Given the description of an element on the screen output the (x, y) to click on. 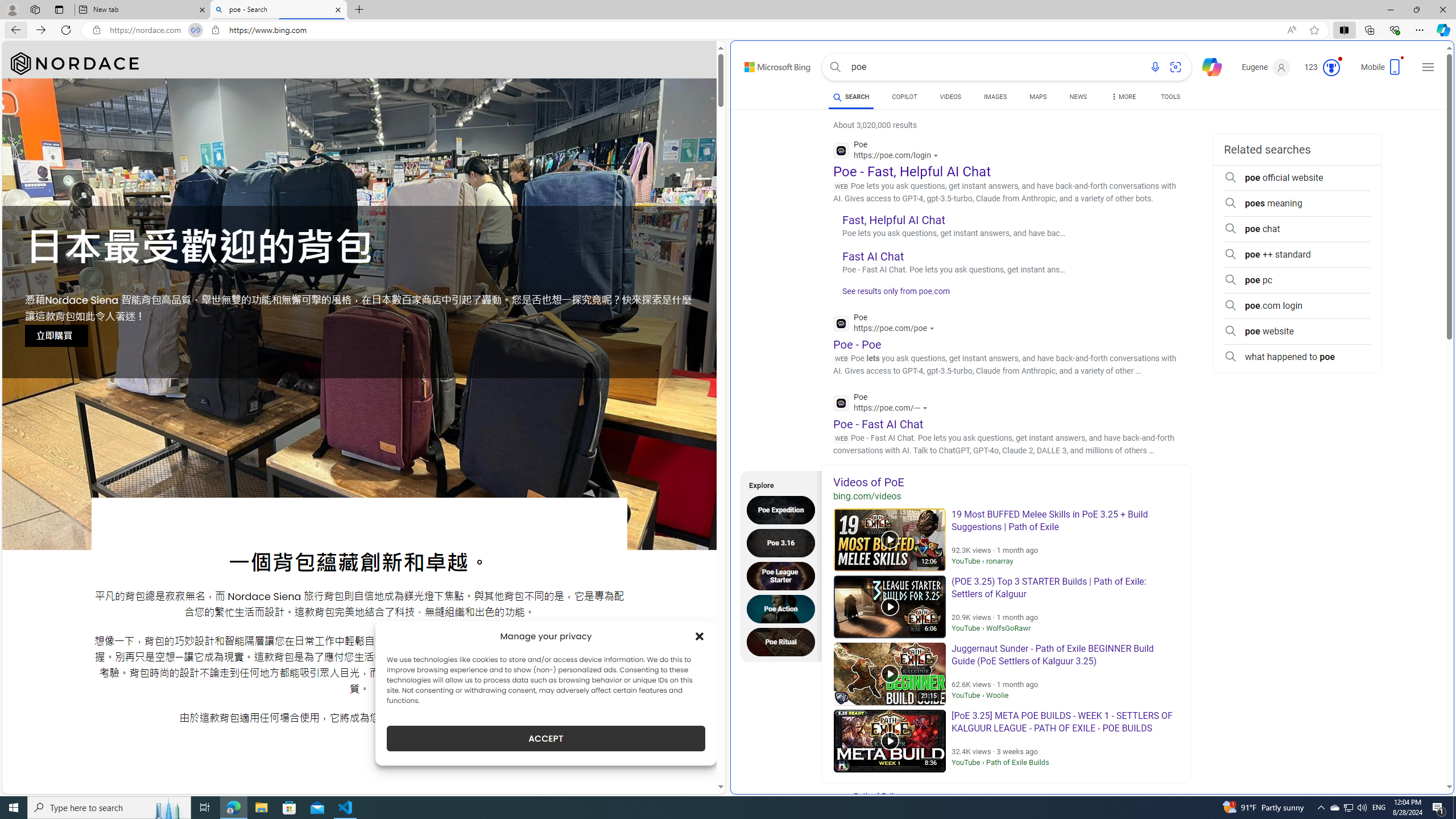
Fast AI Chat (873, 255)
poes meaning (1297, 203)
NEWS (1078, 96)
Settings and quick links (1428, 67)
COPILOT (903, 98)
Videos of PoE (1005, 481)
Poe League Starter (783, 575)
VIDEOS (950, 98)
Class: medal-circled (1331, 67)
